Given the description of an element on the screen output the (x, y) to click on. 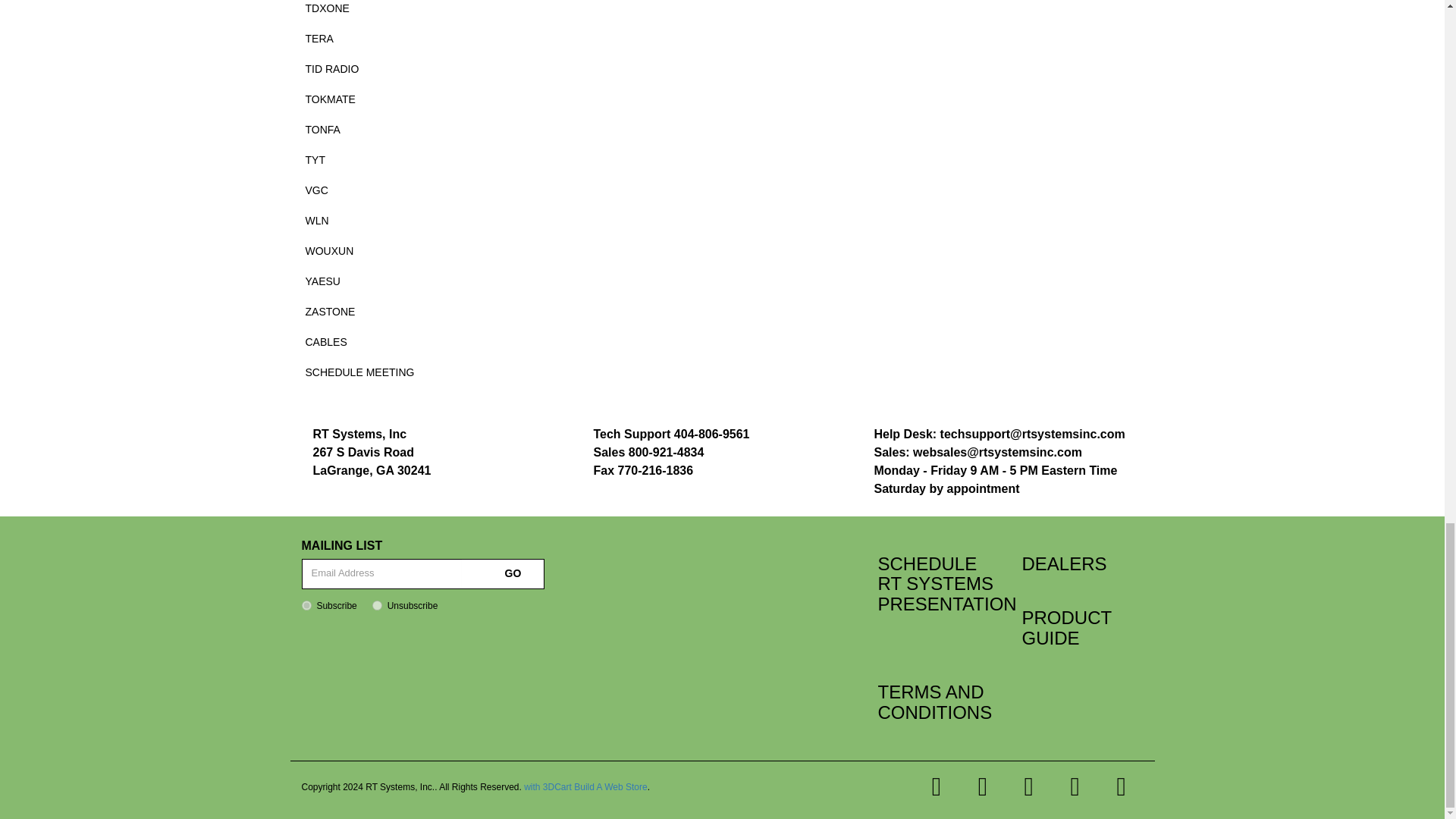
0 (376, 605)
1 (306, 605)
